Given the description of an element on the screen output the (x, y) to click on. 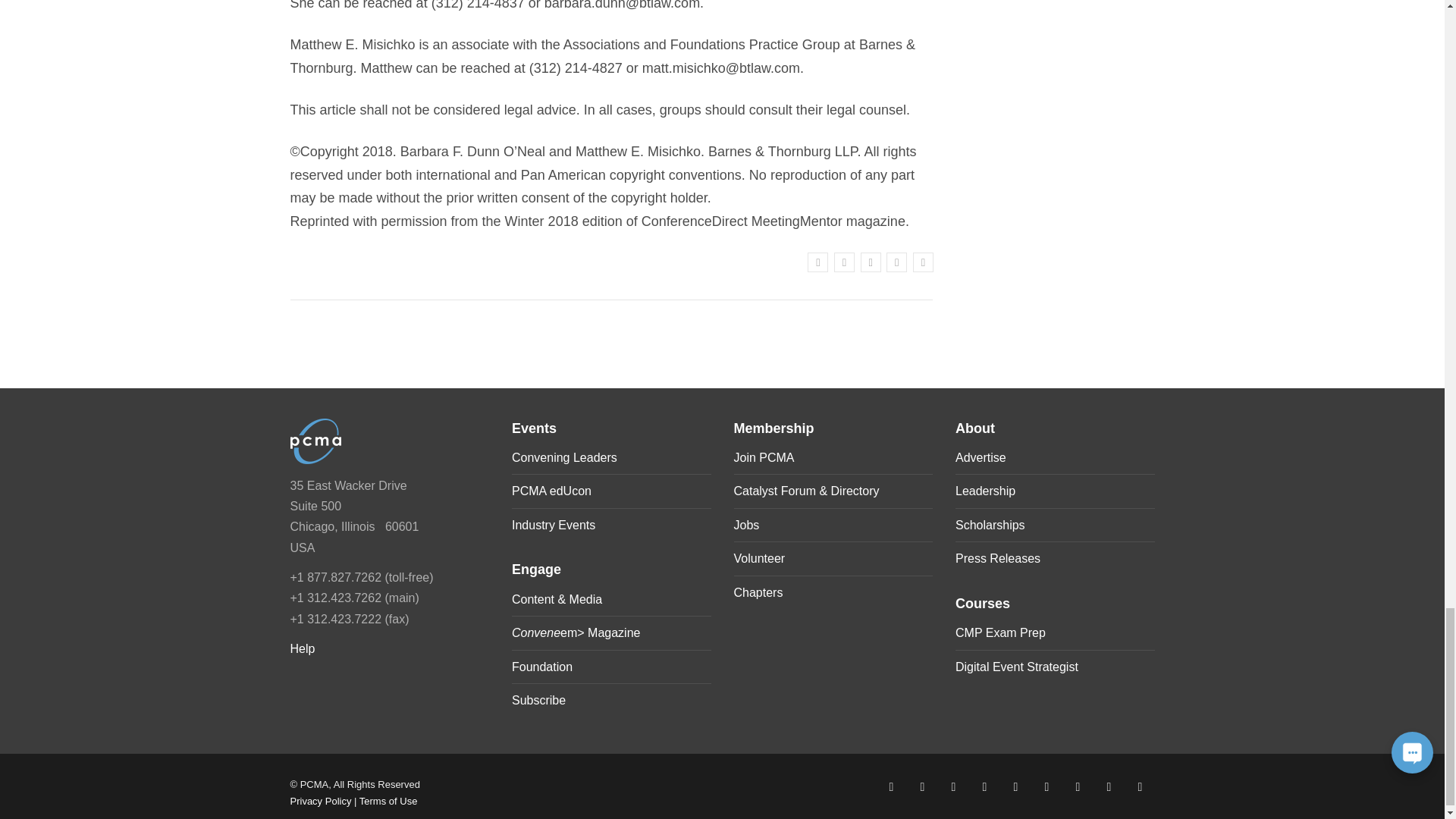
PCMA edUcon (551, 490)
Convening Leaders (564, 457)
Help (301, 648)
Industry Events (553, 524)
